Given the description of an element on the screen output the (x, y) to click on. 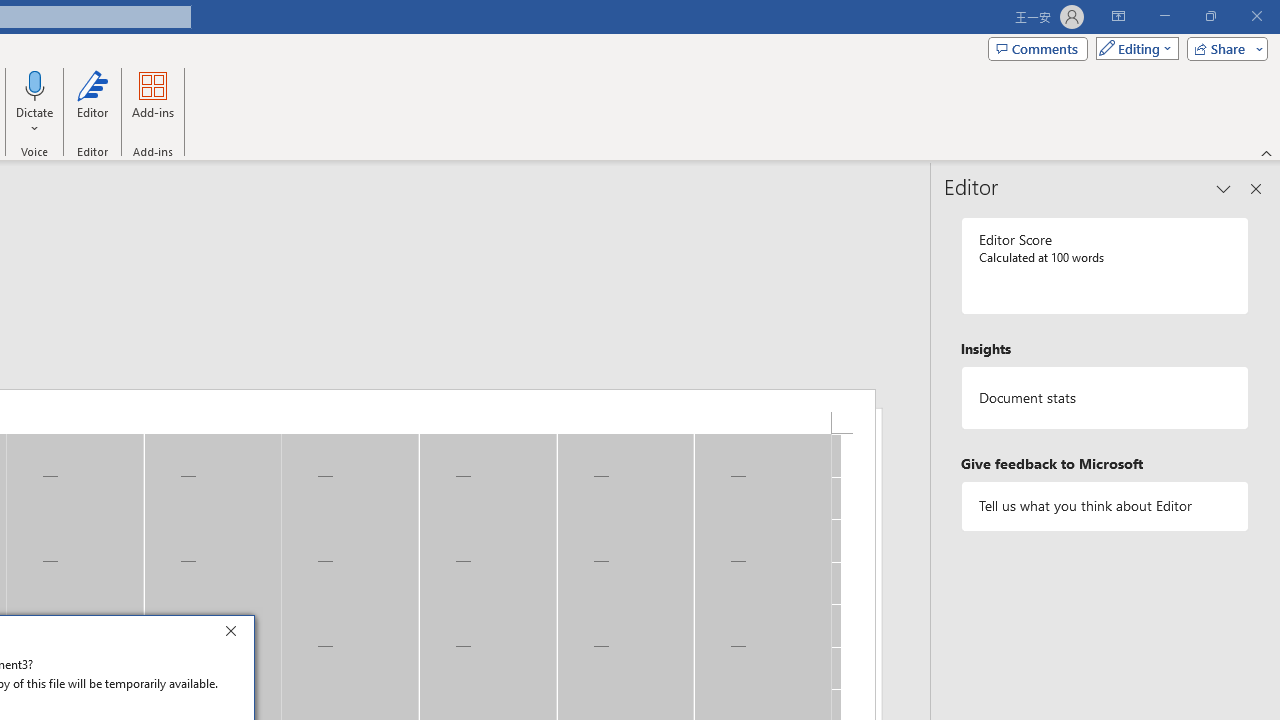
Tell us what you think about Editor (1105, 506)
Document statistics (1105, 398)
